Given the description of an element on the screen output the (x, y) to click on. 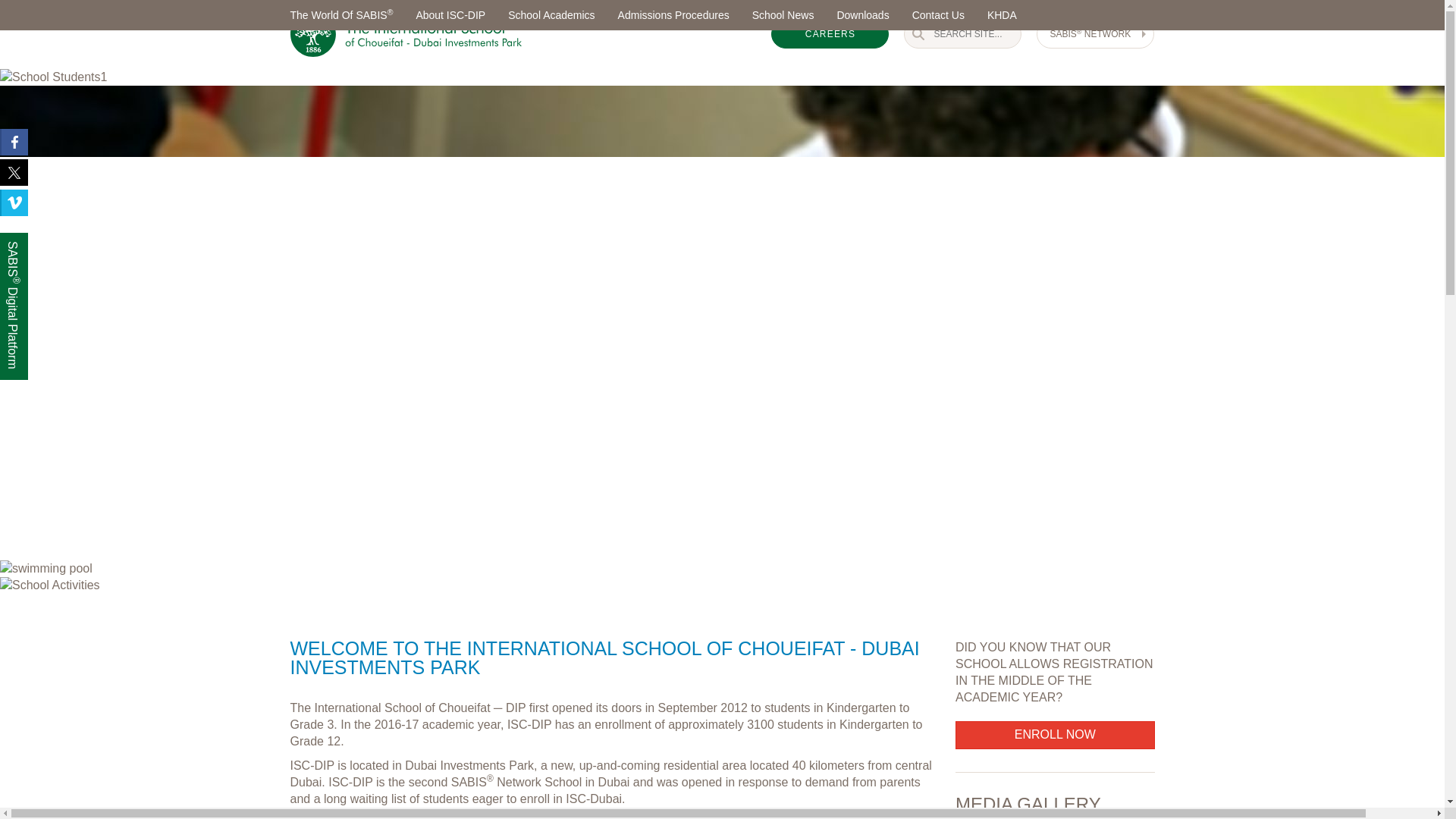
School Academics (550, 15)
About ISC-DIP (450, 15)
About ISC-DIP (450, 15)
CAREERS (829, 34)
